Given the description of an element on the screen output the (x, y) to click on. 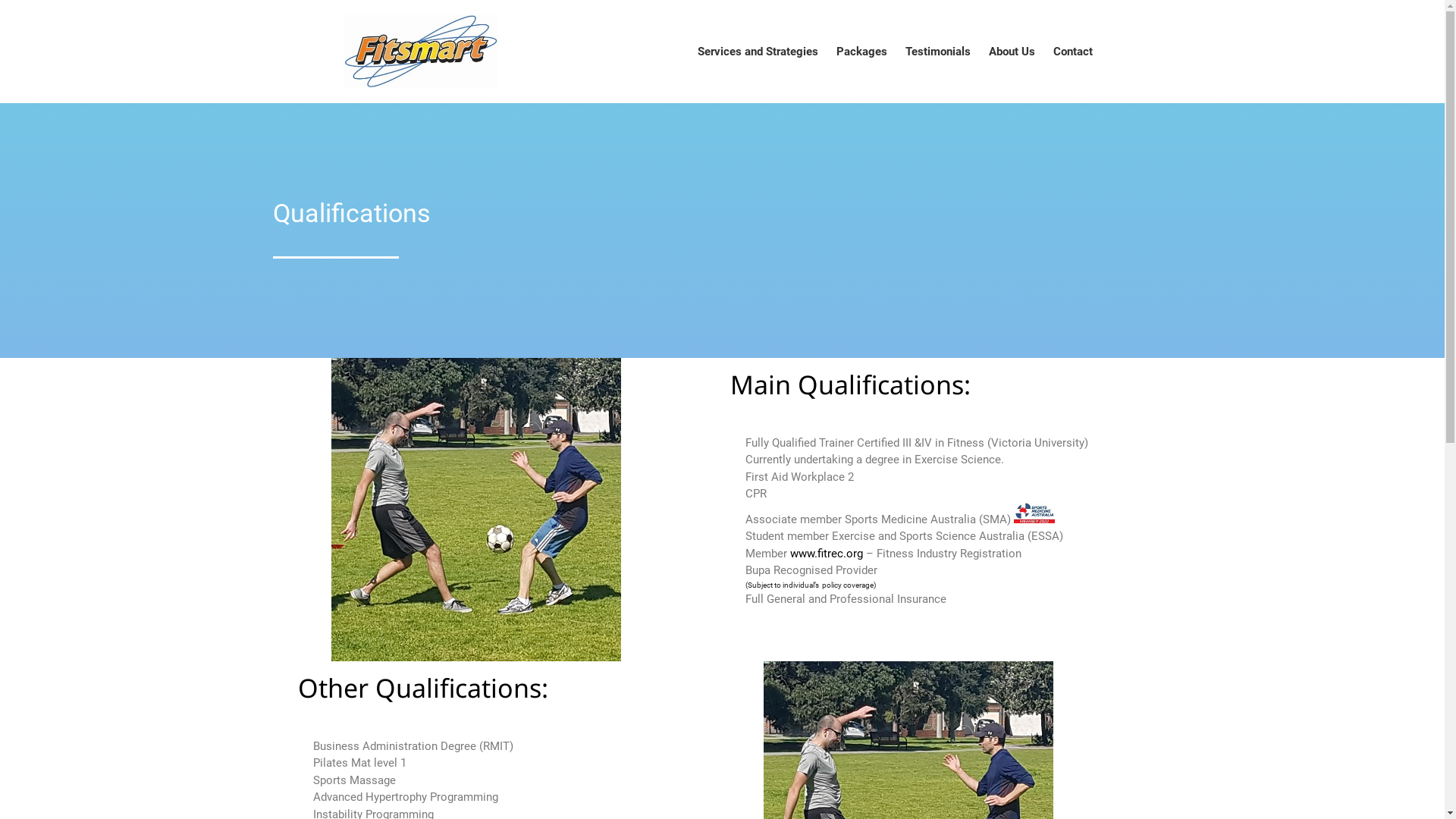
Testimonials Element type: text (937, 51)
www.fitrec.org Element type: text (826, 553)
About Us Element type: text (1011, 51)
Services and Strategies Element type: text (757, 51)
FitSmart Element type: text (535, 61)
Contact Element type: text (1071, 51)
Packages Element type: text (861, 51)
Search Element type: text (1357, 222)
